Given the description of an element on the screen output the (x, y) to click on. 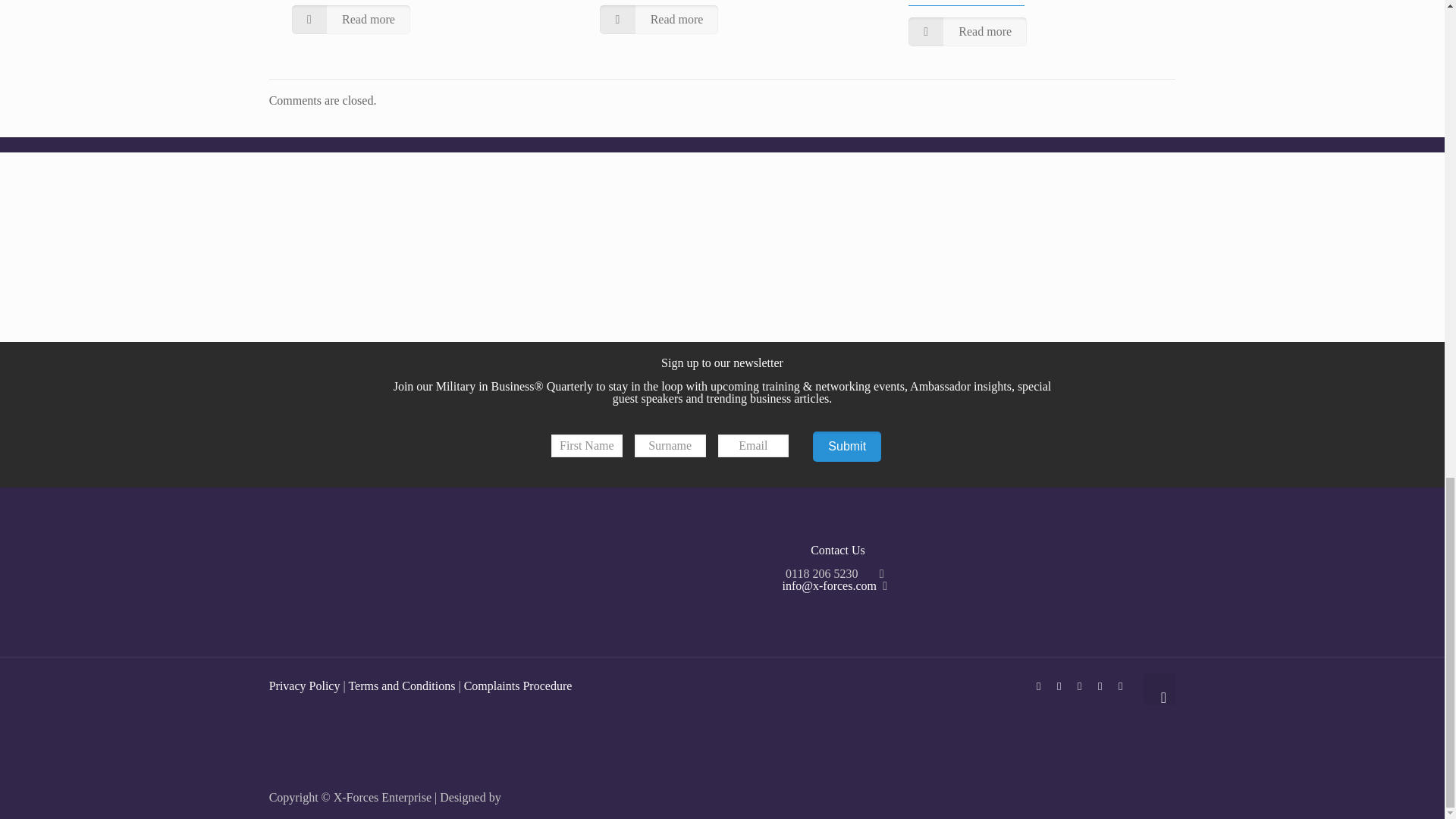
Submit (846, 446)
YouTube (1079, 686)
Twitter (1059, 686)
Instagram (1120, 686)
Facebook (1038, 686)
LinkedIn (1100, 686)
